Given the description of an element on the screen output the (x, y) to click on. 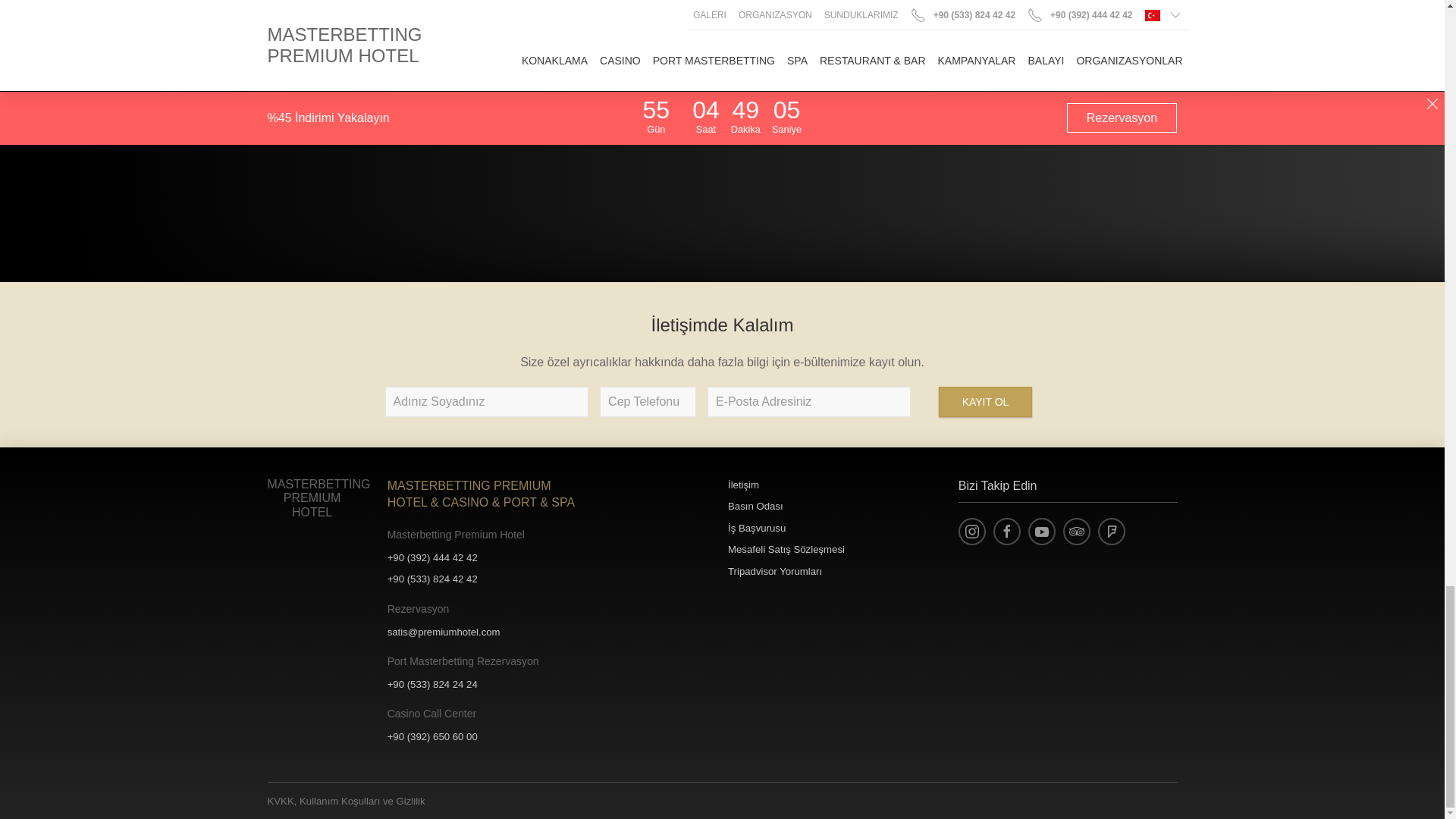
KAYIT OL (985, 401)
